Given the description of an element on the screen output the (x, y) to click on. 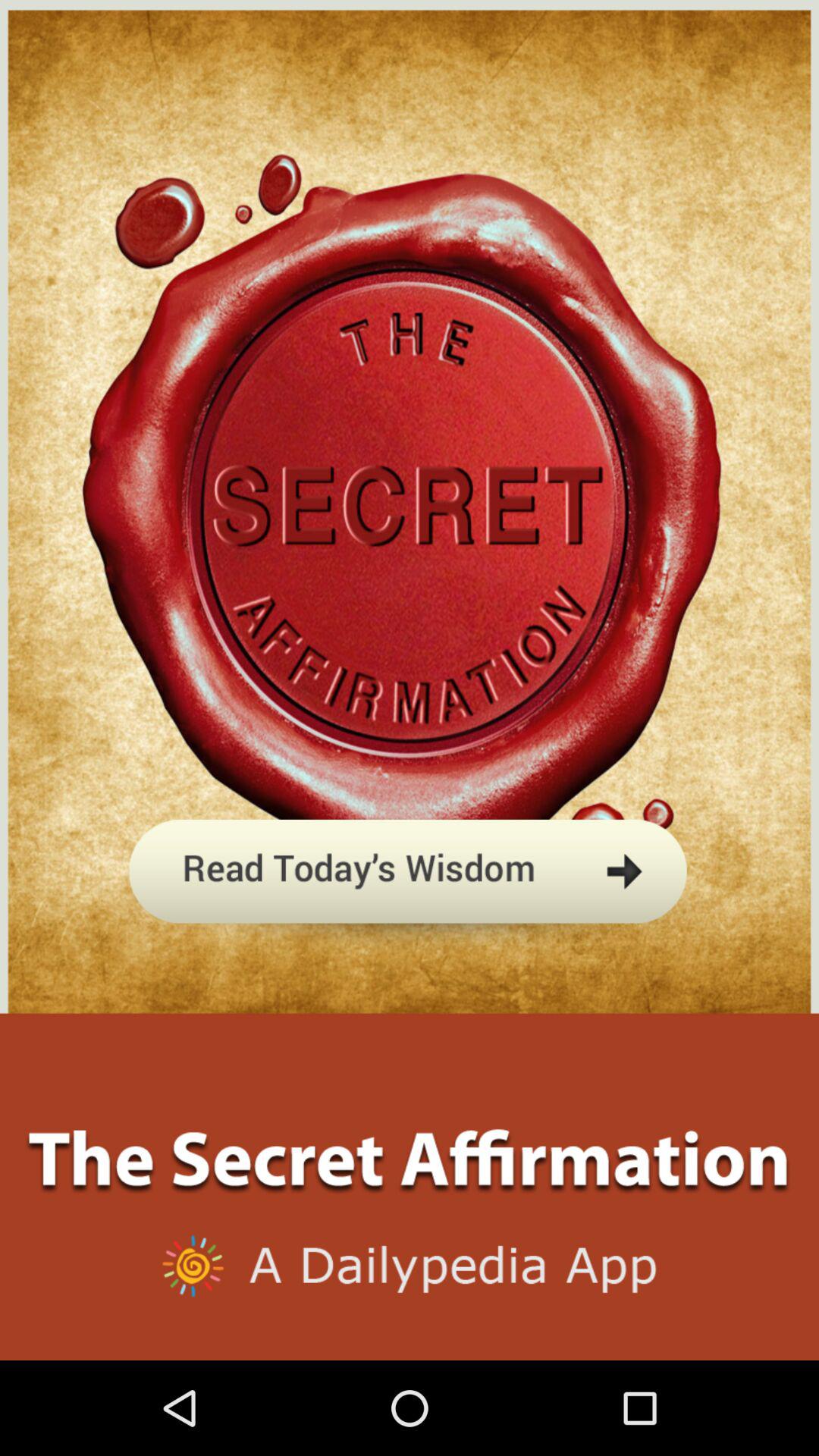
read text (408, 943)
